Given the description of an element on the screen output the (x, y) to click on. 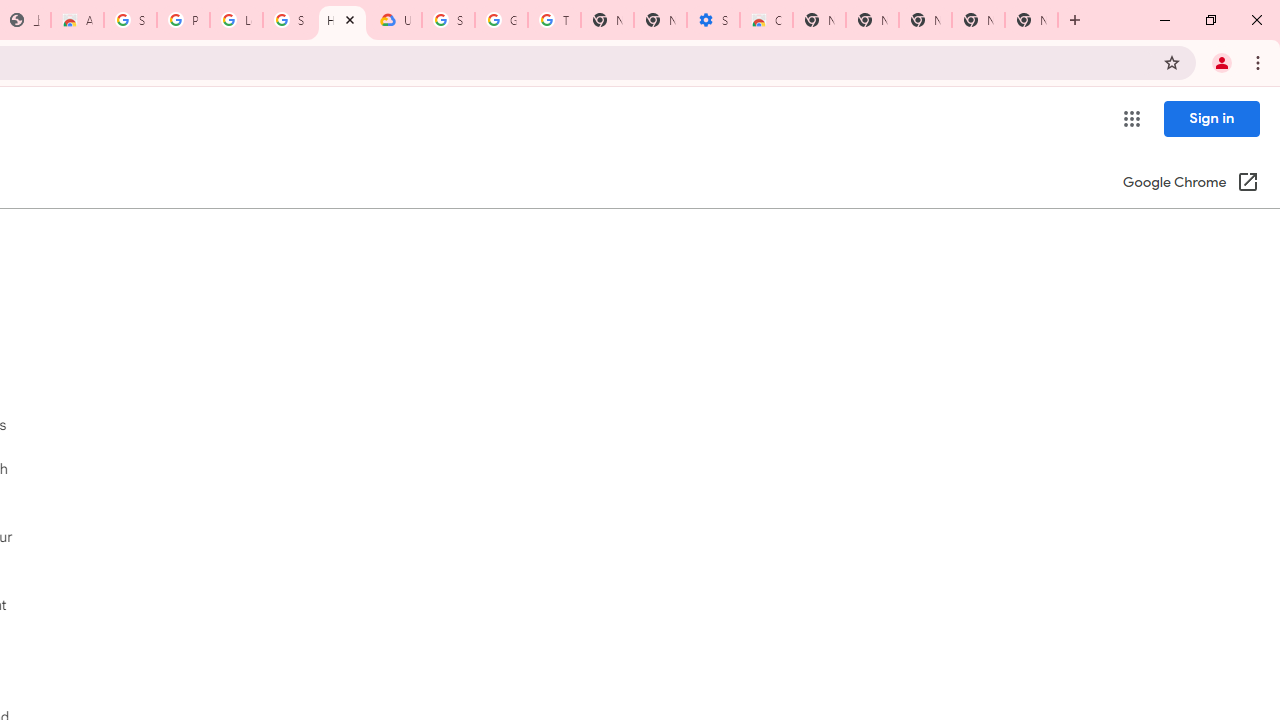
Google Account Help (501, 20)
Sign in - Google Accounts (448, 20)
Turn cookies on or off - Computer - Google Account Help (554, 20)
Settings - Accessibility (713, 20)
Sign in - Google Accounts (130, 20)
